Given the description of an element on the screen output the (x, y) to click on. 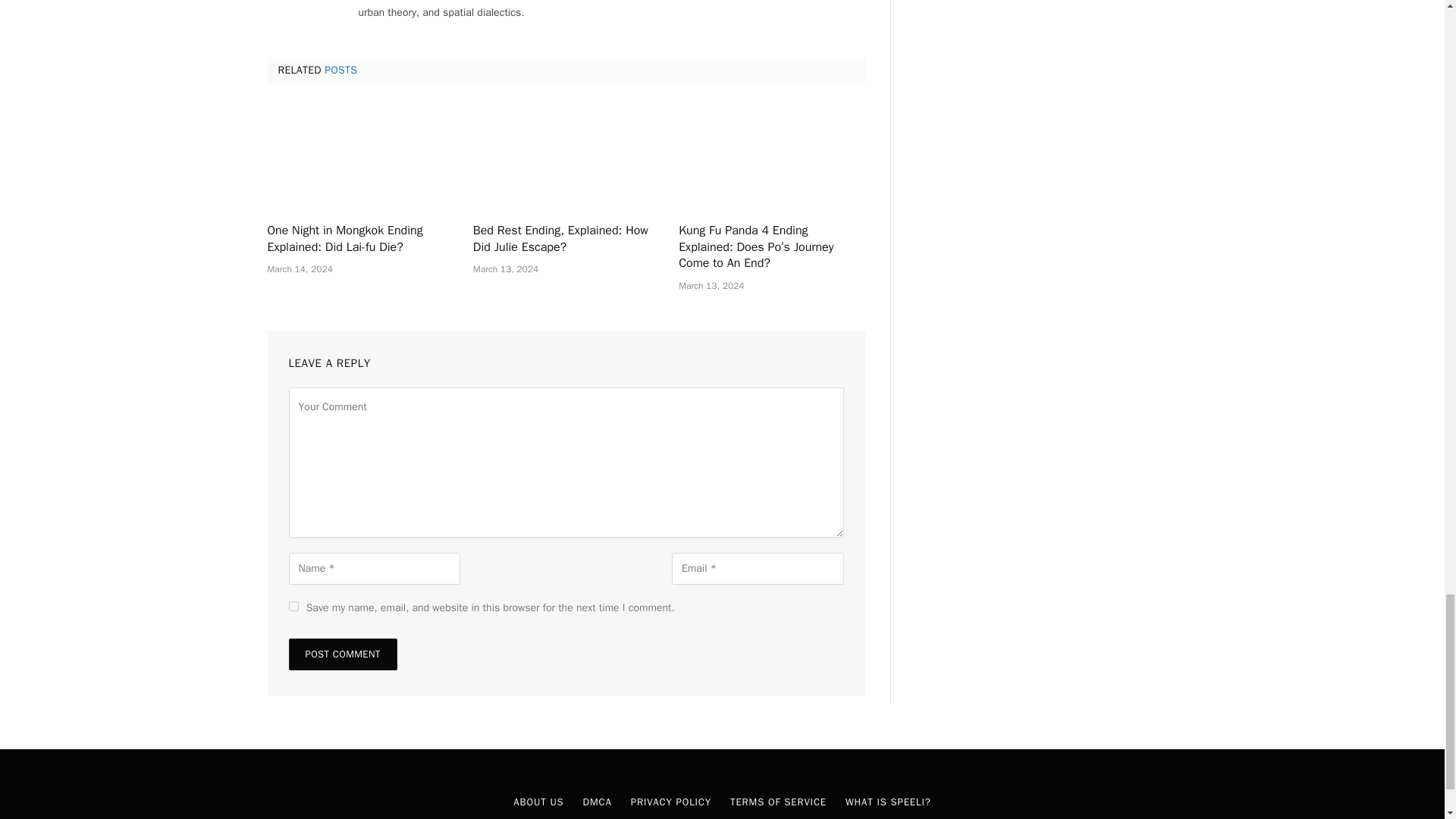
Post Comment (342, 654)
Bed Rest Ending, Explained: How Did Julie Escape? (566, 239)
One Night in Mongkok Ending Explained: Did Lai-fu Die? (359, 158)
yes (293, 605)
One Night in Mongkok Ending Explained: Did Lai-fu Die? (359, 239)
Post Comment (342, 654)
